Given the description of an element on the screen output the (x, y) to click on. 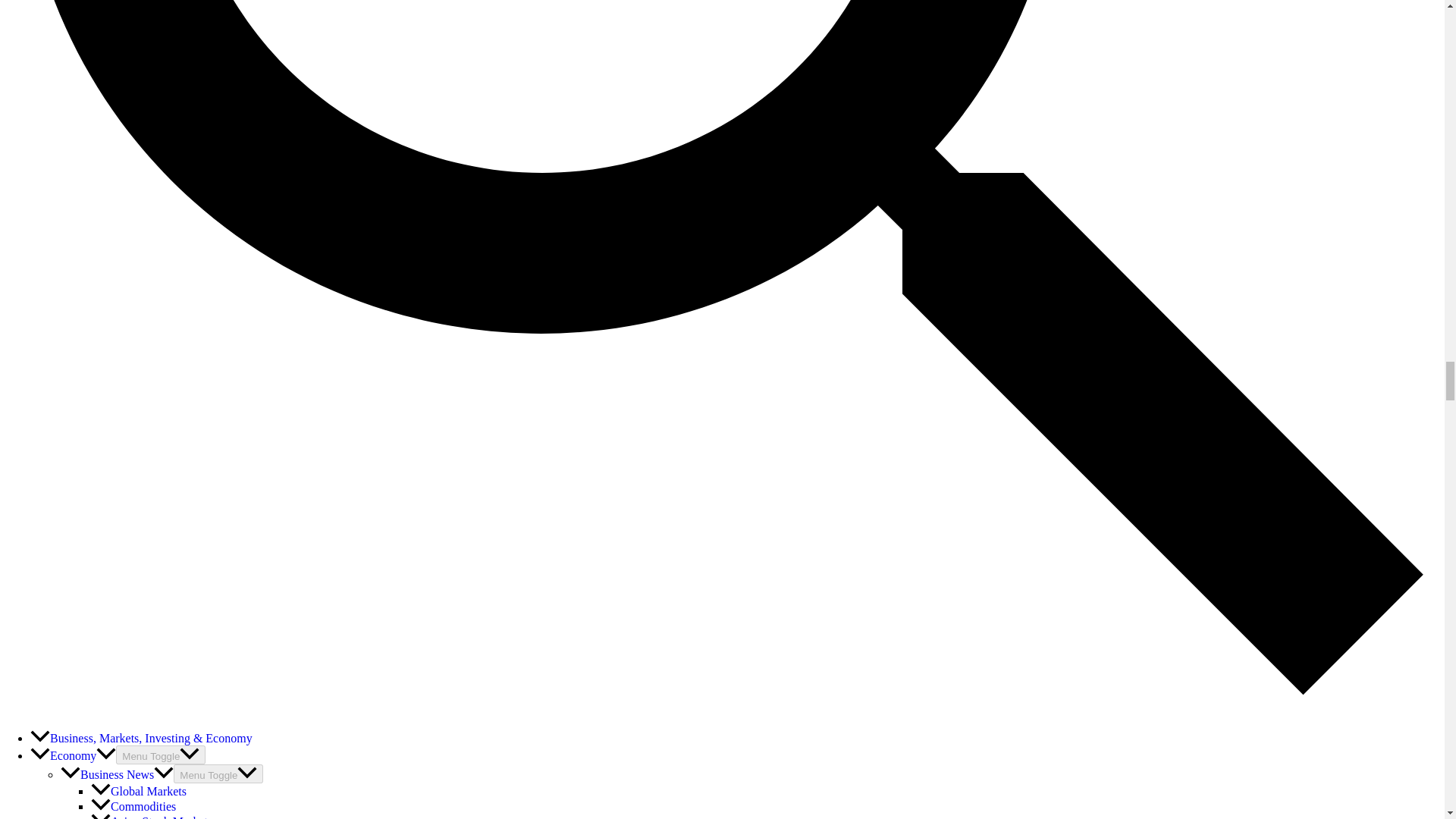
Economy (73, 755)
Global Markets (138, 790)
Asian Stock Markets (151, 816)
Menu Toggle (218, 773)
Menu Toggle (160, 754)
Business News (117, 774)
Commodities (133, 806)
